Given the description of an element on the screen output the (x, y) to click on. 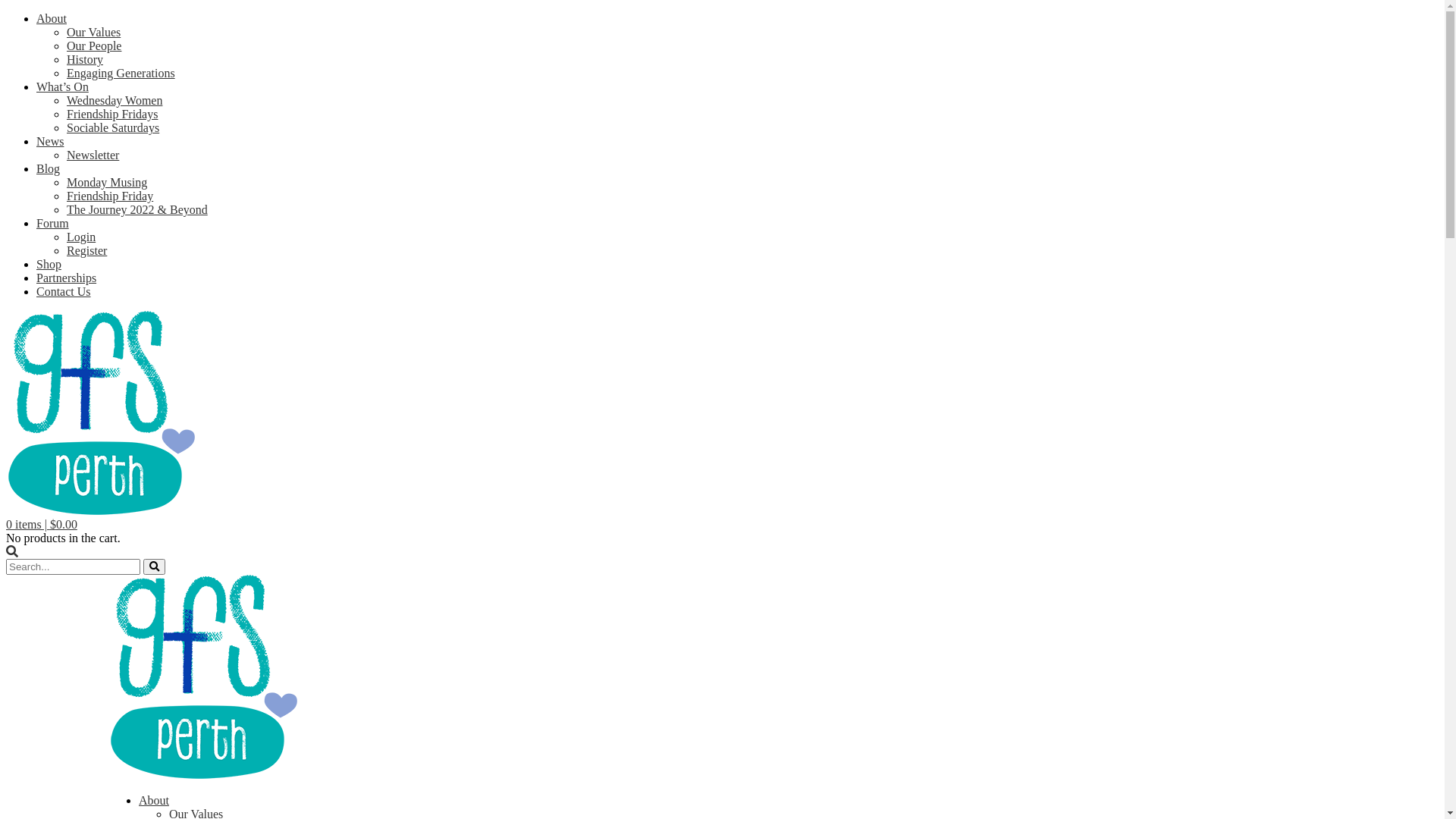
Friendship Fridays Element type: text (111, 113)
The Journey 2022 & Beyond Element type: text (136, 209)
Contact Us Element type: text (63, 291)
Blog Element type: text (47, 168)
Our Values Element type: text (93, 31)
About Element type: text (51, 18)
Our People Element type: text (93, 45)
0 items | $0.00 Element type: text (41, 523)
News Element type: text (49, 140)
About Element type: text (153, 799)
Newsletter Element type: text (92, 154)
Partnerships Element type: text (66, 277)
Forum Element type: text (52, 222)
Wednesday Women Element type: text (114, 100)
Sociable Saturdays Element type: text (112, 127)
Monday Musing Element type: text (106, 181)
Shop Element type: text (48, 263)
Friendship Friday Element type: text (109, 195)
Engaging Generations Element type: text (120, 72)
History Element type: text (84, 59)
Login Element type: text (80, 236)
Register Element type: text (86, 250)
